Given the description of an element on the screen output the (x, y) to click on. 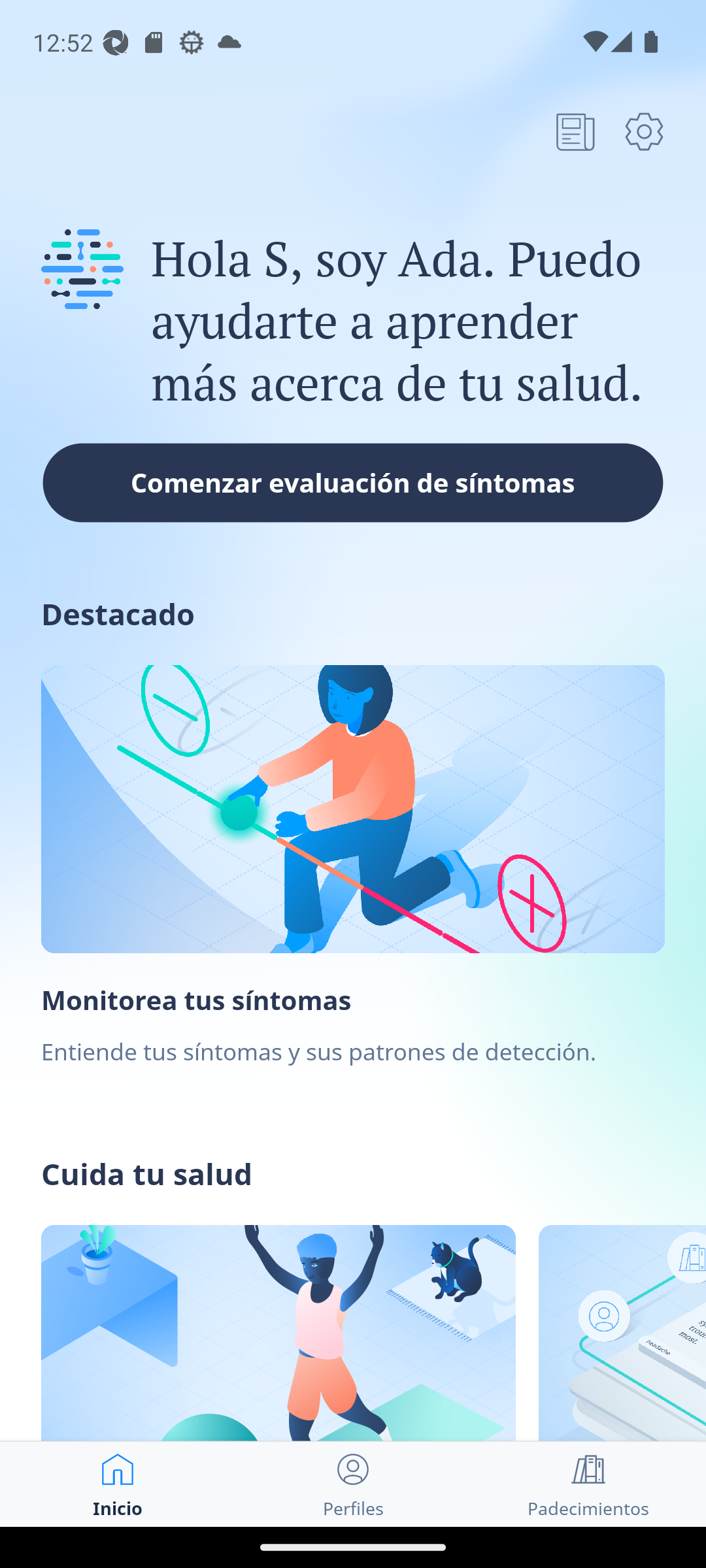
article icon , open articles (574, 131)
settings icon, open settings (644, 131)
Comenzar evaluación de síntomas (352, 482)
Inicio (117, 1484)
Perfiles (352, 1484)
Padecimientos (588, 1484)
